Given the description of an element on the screen output the (x, y) to click on. 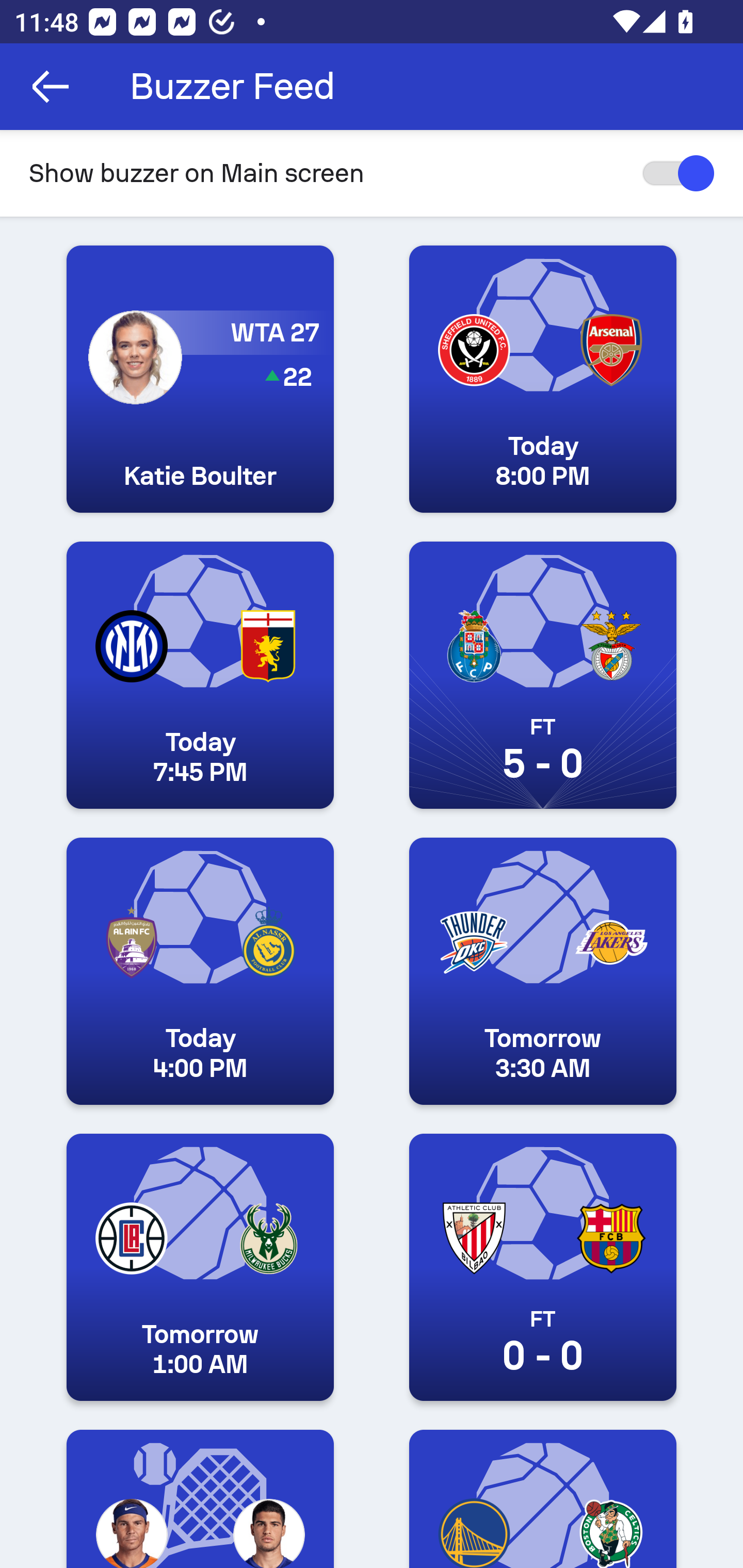
Navigate up (50, 86)
Show buzzer on Main screen (371, 173)
WTA 27 22 Katie Boulter (199, 379)
Today
8:00 PM (542, 379)
Today
7:45 PM (199, 674)
FT 5 - 0 (542, 674)
Today
4:00 PM (199, 971)
Tomorrow
3:30 AM (542, 971)
Tomorrow
1:00 AM (199, 1266)
FT 0 - 0 (542, 1266)
